Given the description of an element on the screen output the (x, y) to click on. 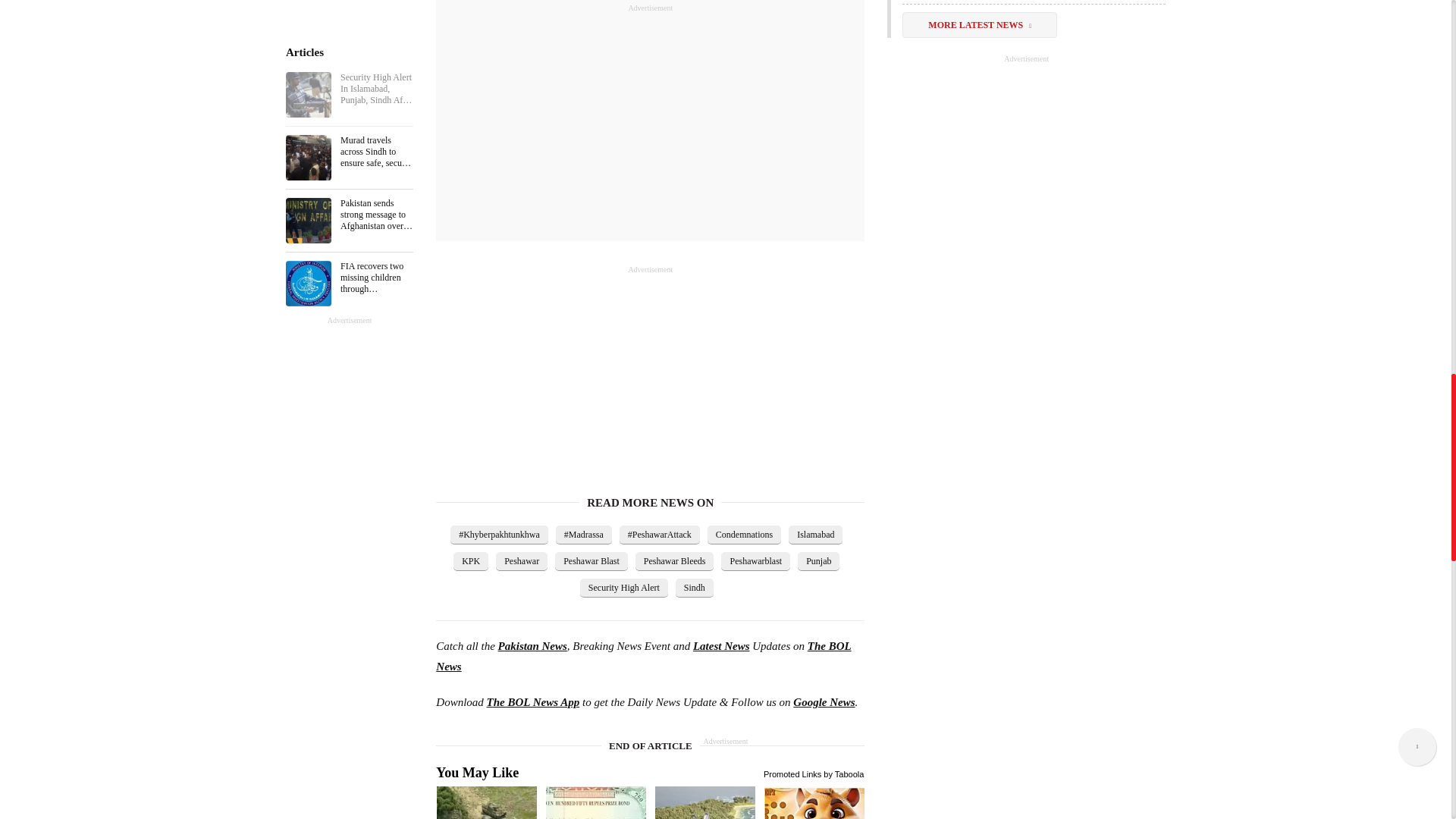
Advertisement (549, 370)
Advertisement (649, 119)
